Given the description of an element on the screen output the (x, y) to click on. 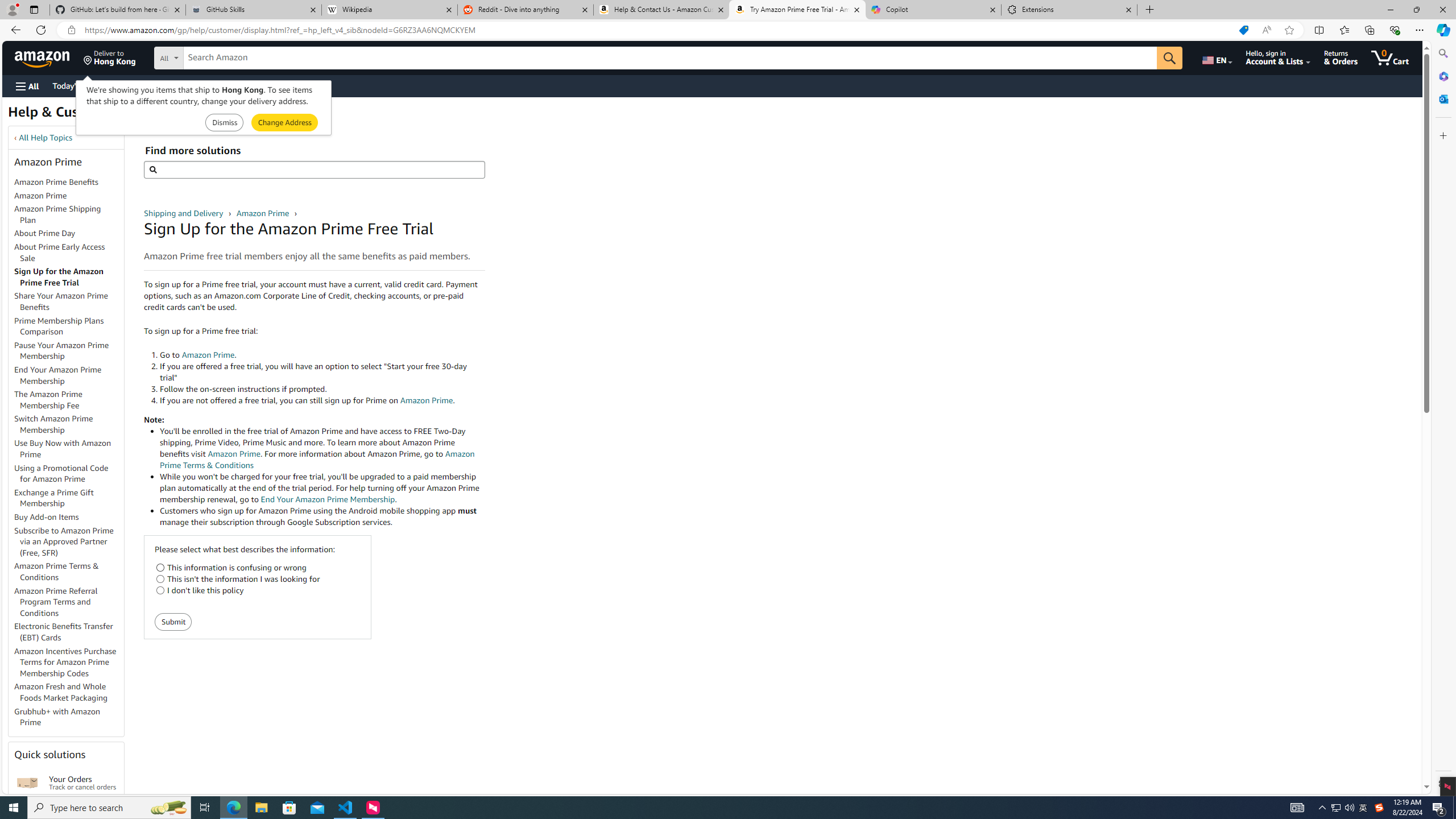
Prime Membership Plans Comparison (58, 326)
Amazon Prime Benefits (68, 182)
Buy Add-on Items (46, 516)
The Amazon Prime Membership Fee (48, 399)
Amazon Prime Shipping Plan (57, 214)
About Prime Early Access Sale (59, 251)
Search in (210, 58)
Go to Amazon Prime. (322, 354)
Amazon Prime  (263, 213)
